Given the description of an element on the screen output the (x, y) to click on. 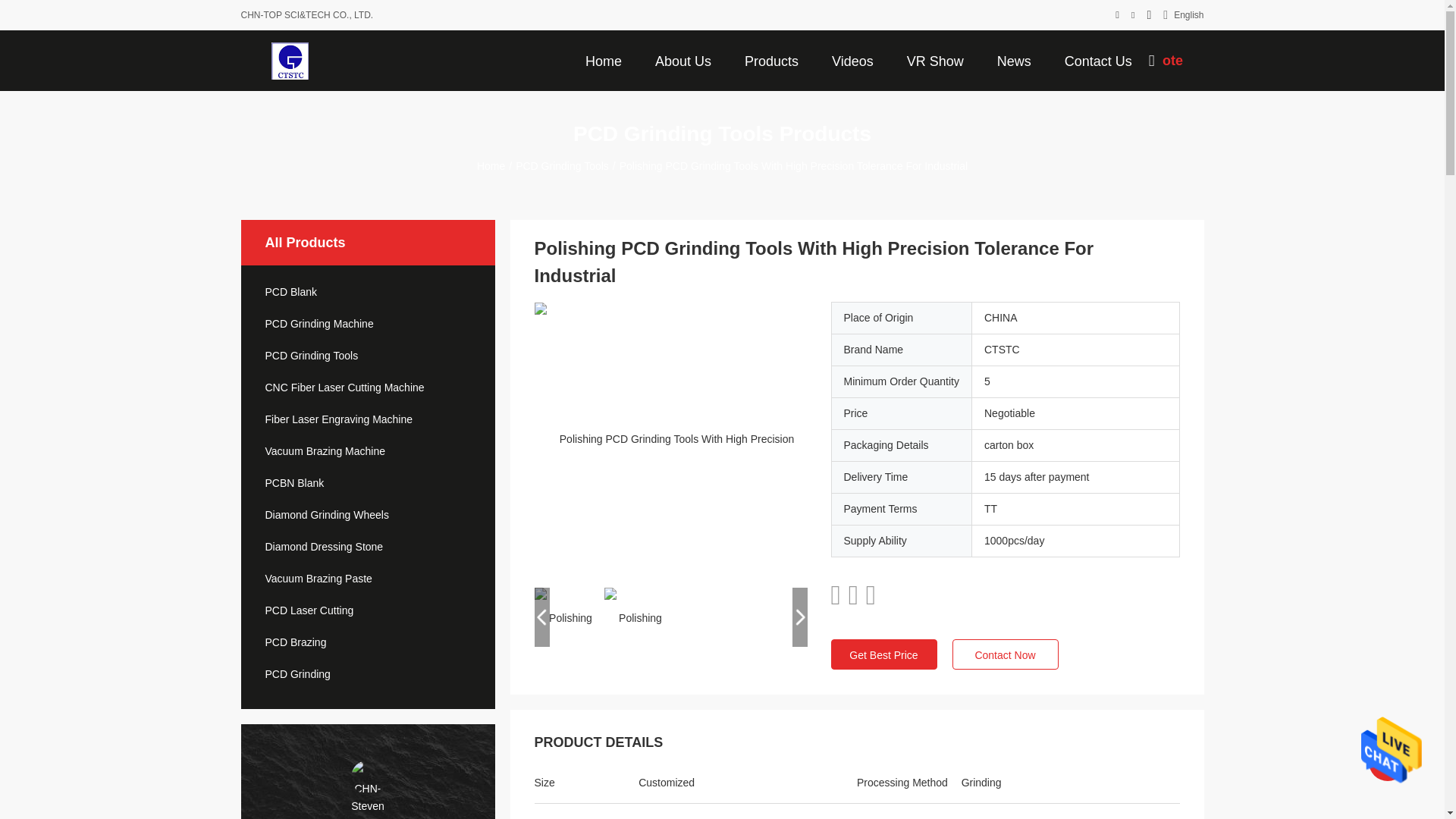
Home (603, 60)
Products (771, 60)
About Us (683, 60)
